Given the description of an element on the screen output the (x, y) to click on. 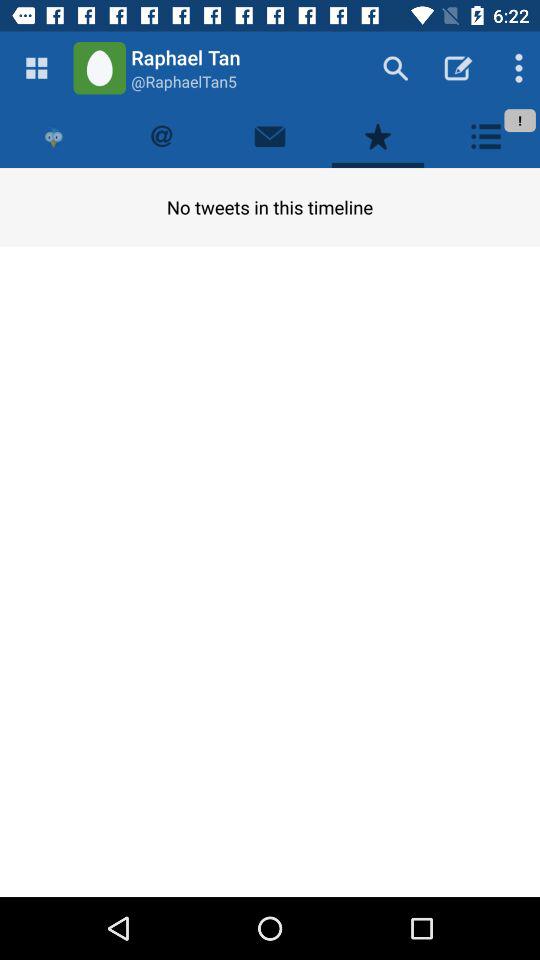
tap no tweets in icon (270, 206)
